Given the description of an element on the screen output the (x, y) to click on. 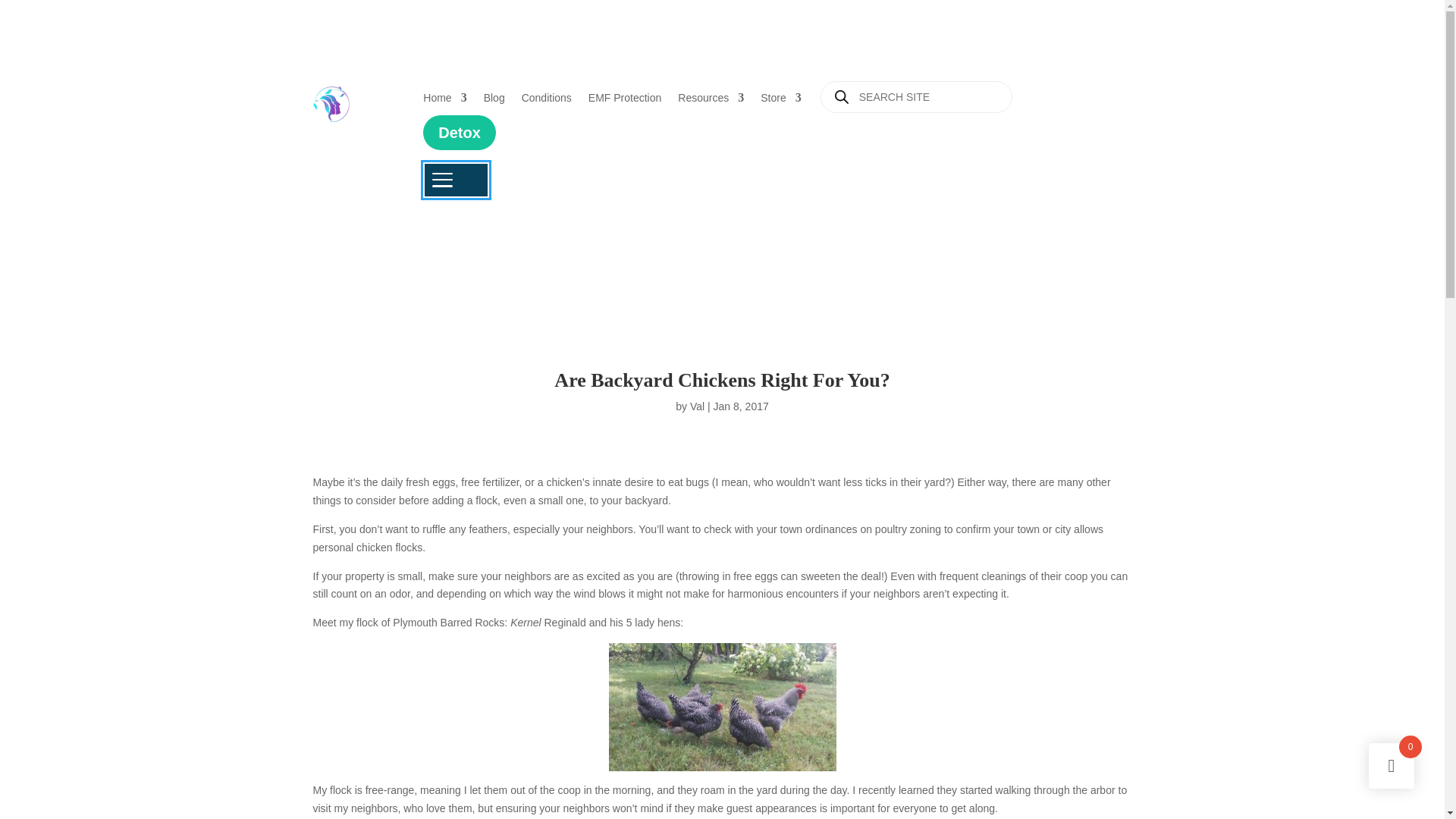
Florence Logo Long (331, 104)
EMF Protection (624, 103)
Resources (711, 103)
Conditions (546, 103)
Val (697, 406)
Posts by Val (697, 406)
Home (444, 103)
Blog (494, 103)
Detox (459, 132)
Store (780, 103)
